Given the description of an element on the screen output the (x, y) to click on. 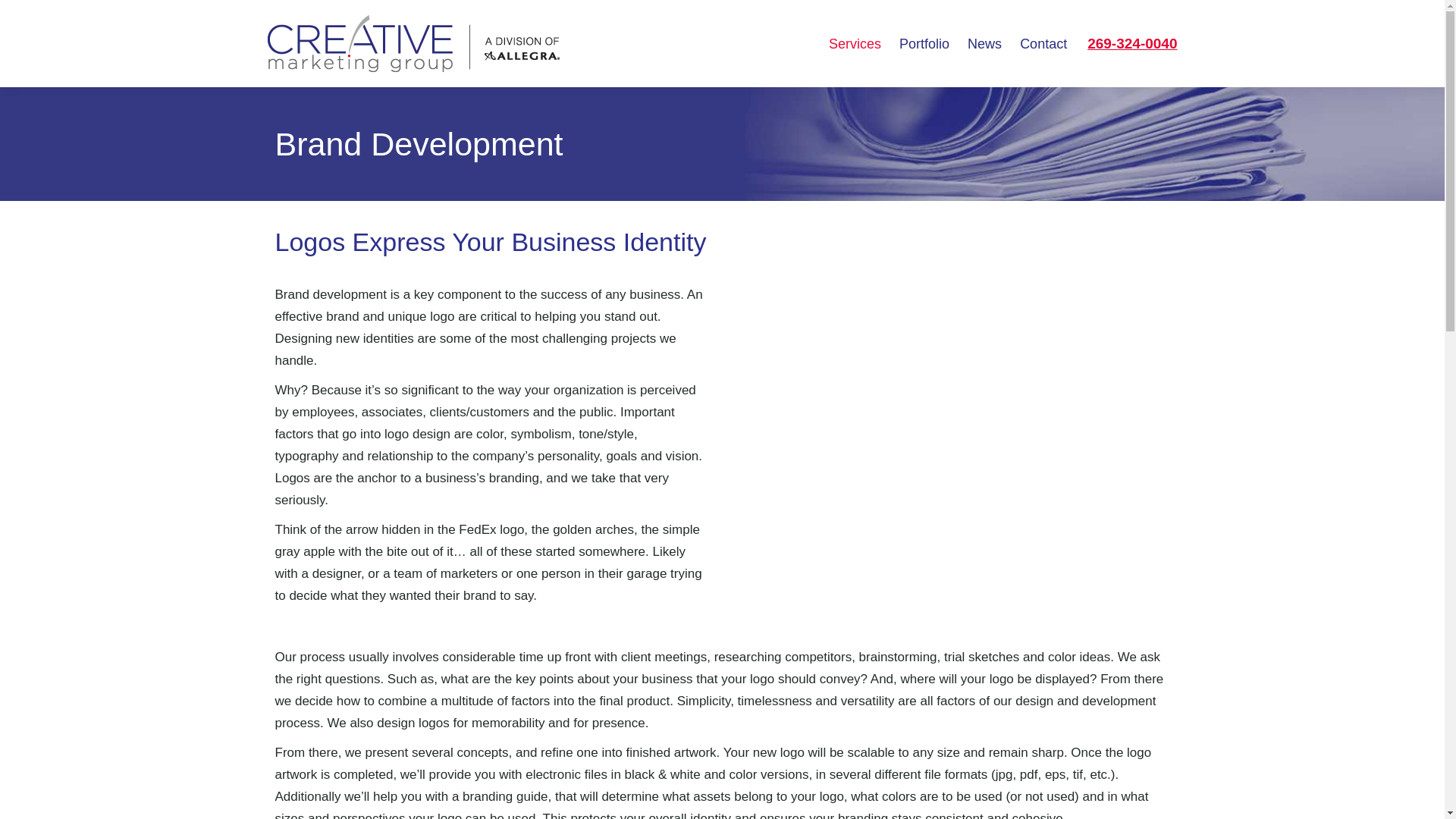
Portfolio (924, 43)
269-324-0040 (1131, 43)
Services (854, 43)
